Given the description of an element on the screen output the (x, y) to click on. 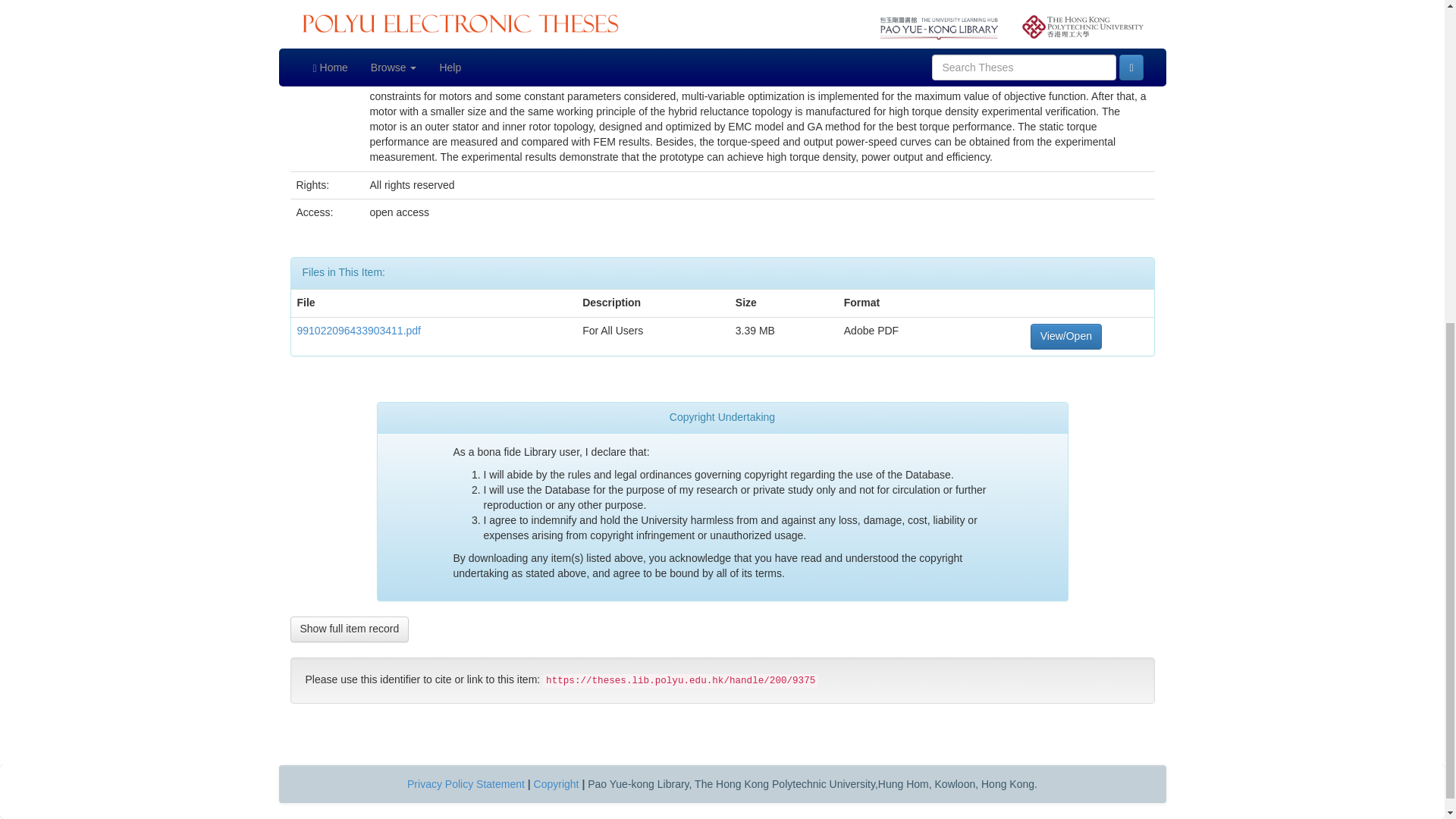
Show full item record (349, 629)
Privacy Policy Statement (465, 784)
991022096433903411.pdf (359, 330)
Copyright (556, 784)
